Given the description of an element on the screen output the (x, y) to click on. 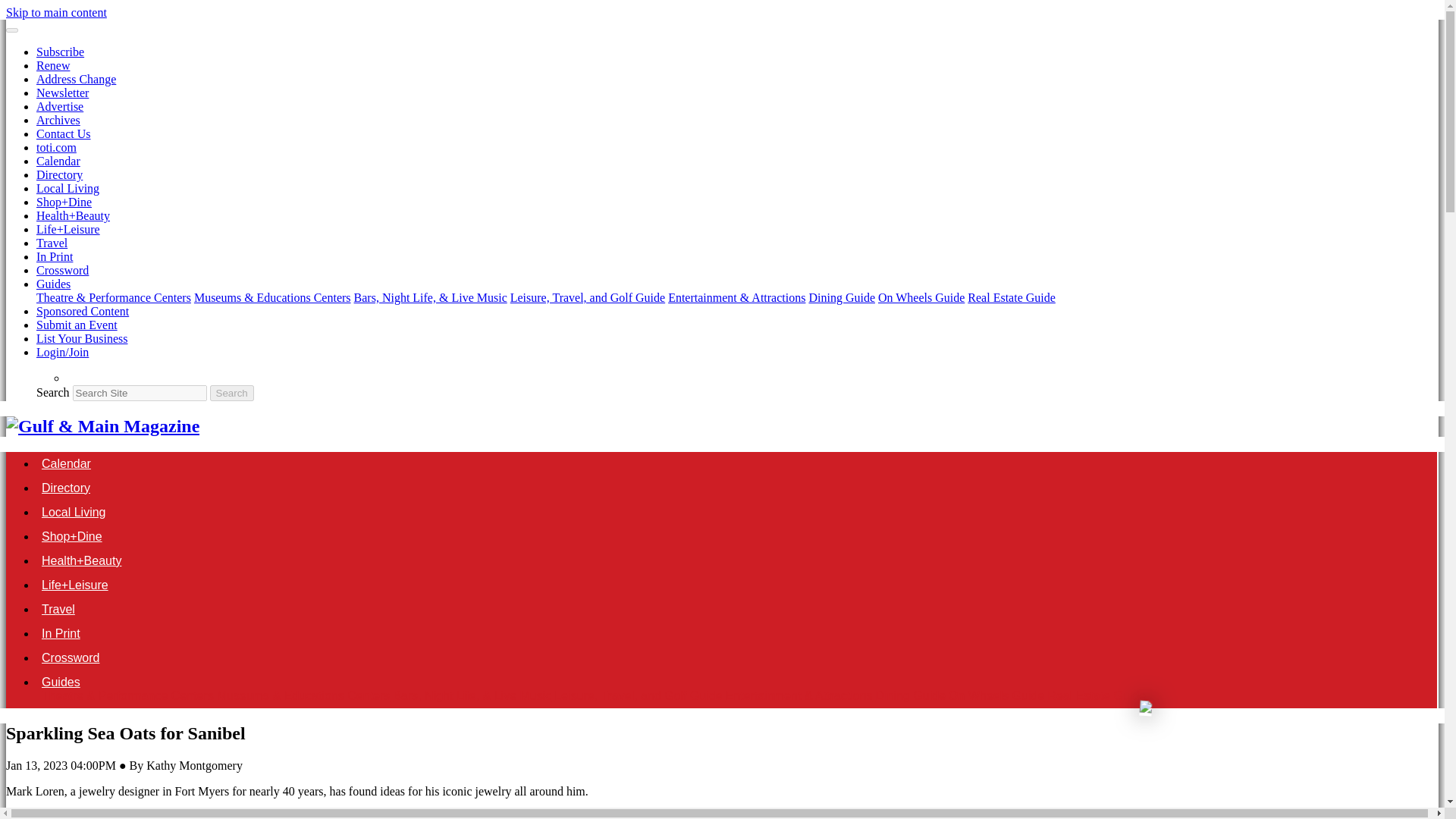
Local Living (74, 512)
Travel (51, 242)
toti.com (56, 146)
Address Change (76, 78)
Subscribe (60, 51)
Skip to main content (55, 11)
Calendar (66, 463)
Leisure, Travel, and Golf Guide (588, 297)
Sponsored Content (82, 310)
On Wheels Guide (920, 297)
Newsletter (62, 92)
Dining Guide (841, 297)
Directory (59, 174)
Guides (52, 283)
Archives (58, 119)
